Given the description of an element on the screen output the (x, y) to click on. 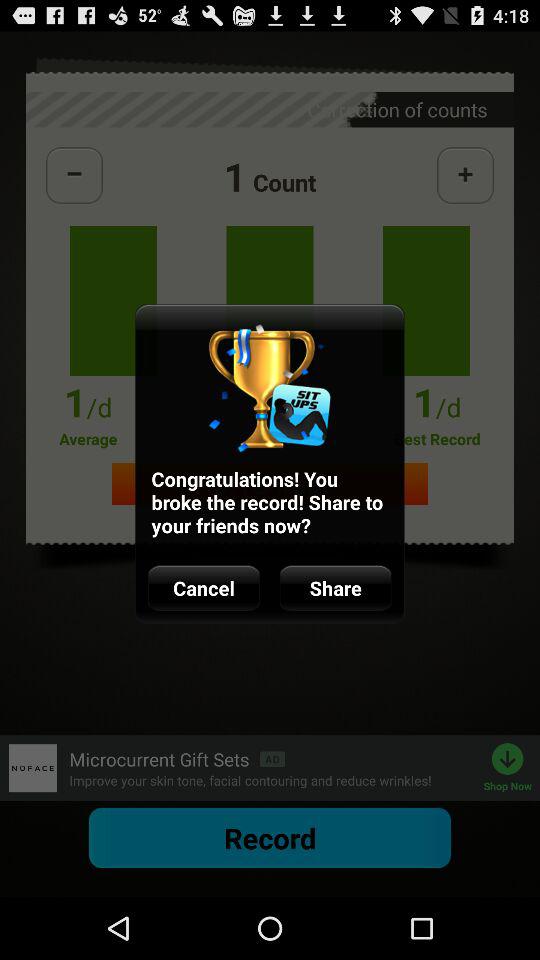
select item next to share (203, 588)
